Given the description of an element on the screen output the (x, y) to click on. 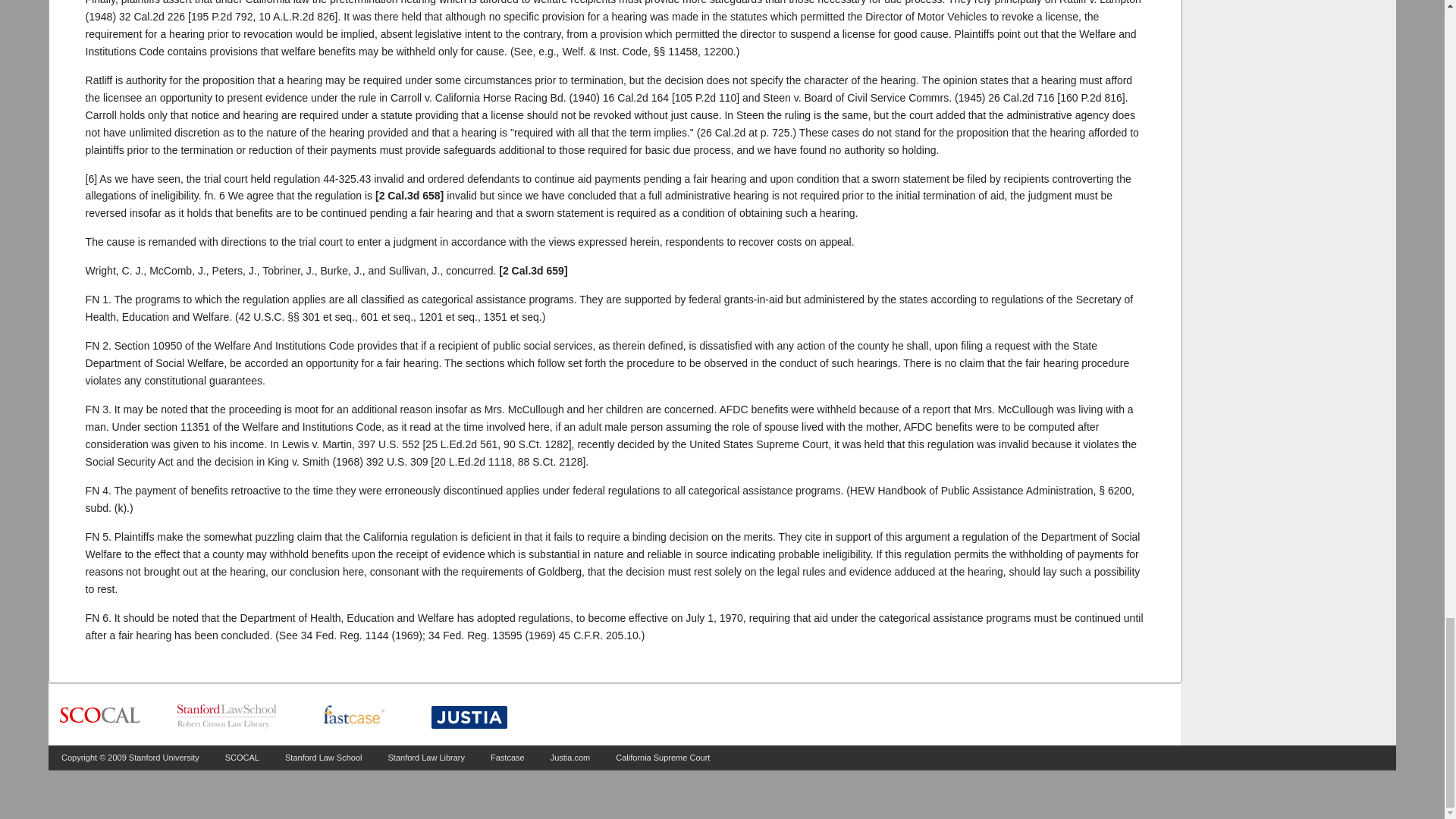
16 Cal.2d 164 (635, 97)
392 U.S. 309 (397, 461)
California Supreme Court (662, 757)
SCOCAL (242, 757)
Justia.com (570, 757)
Ratliff v. Lampton (151, 16)
Stanford Law School (323, 757)
Supreme Court of California (99, 715)
Carroll v. California Horse Racing Bd. (635, 97)
32 Cal.2d 226 (151, 16)
397 U.S. 552 (389, 444)
Fastcase (507, 757)
fn. 6 (215, 195)
fastcase (353, 716)
Stanford Law Library (426, 757)
